Given the description of an element on the screen output the (x, y) to click on. 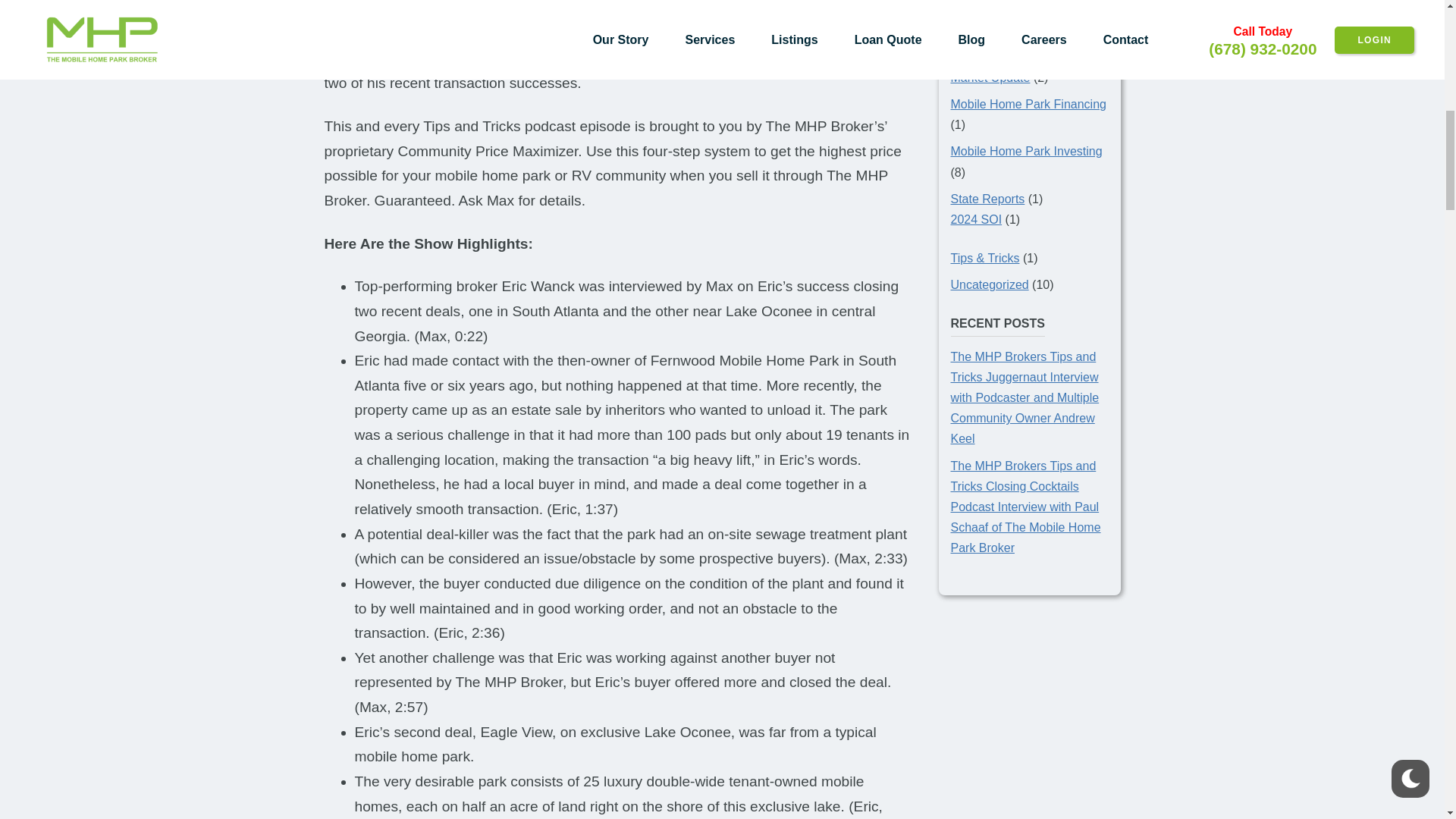
Market Update (990, 77)
Mobile Home Park Investing (1026, 151)
Mobile Home Park Financing (1028, 103)
Uncategorized (989, 284)
State Reports (987, 198)
Lifestyle Design (993, 51)
2024 SOI (976, 219)
Juggernaut Interviews (1010, 11)
